Given the description of an element on the screen output the (x, y) to click on. 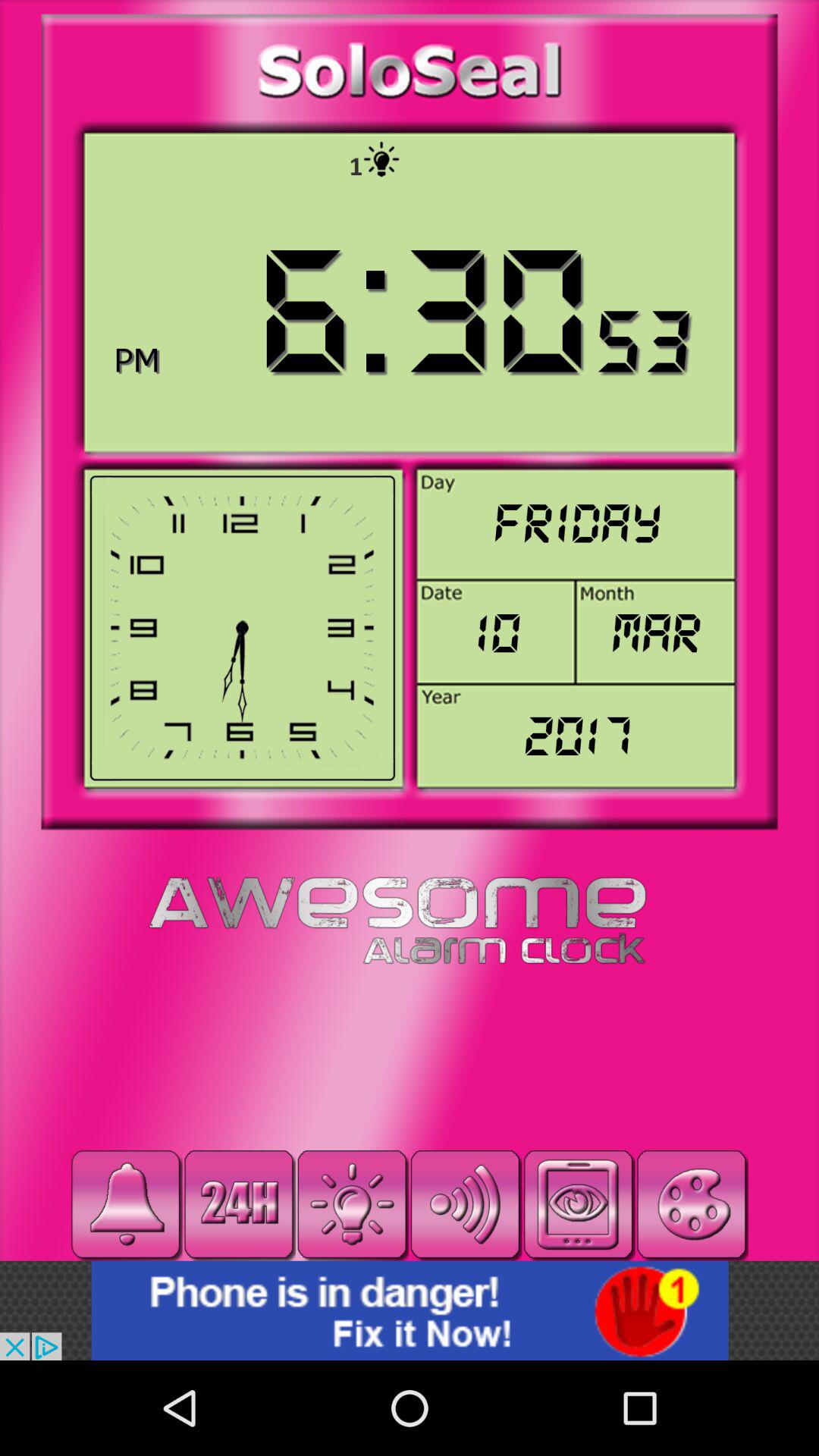
adjust brightness (351, 1203)
